Given the description of an element on the screen output the (x, y) to click on. 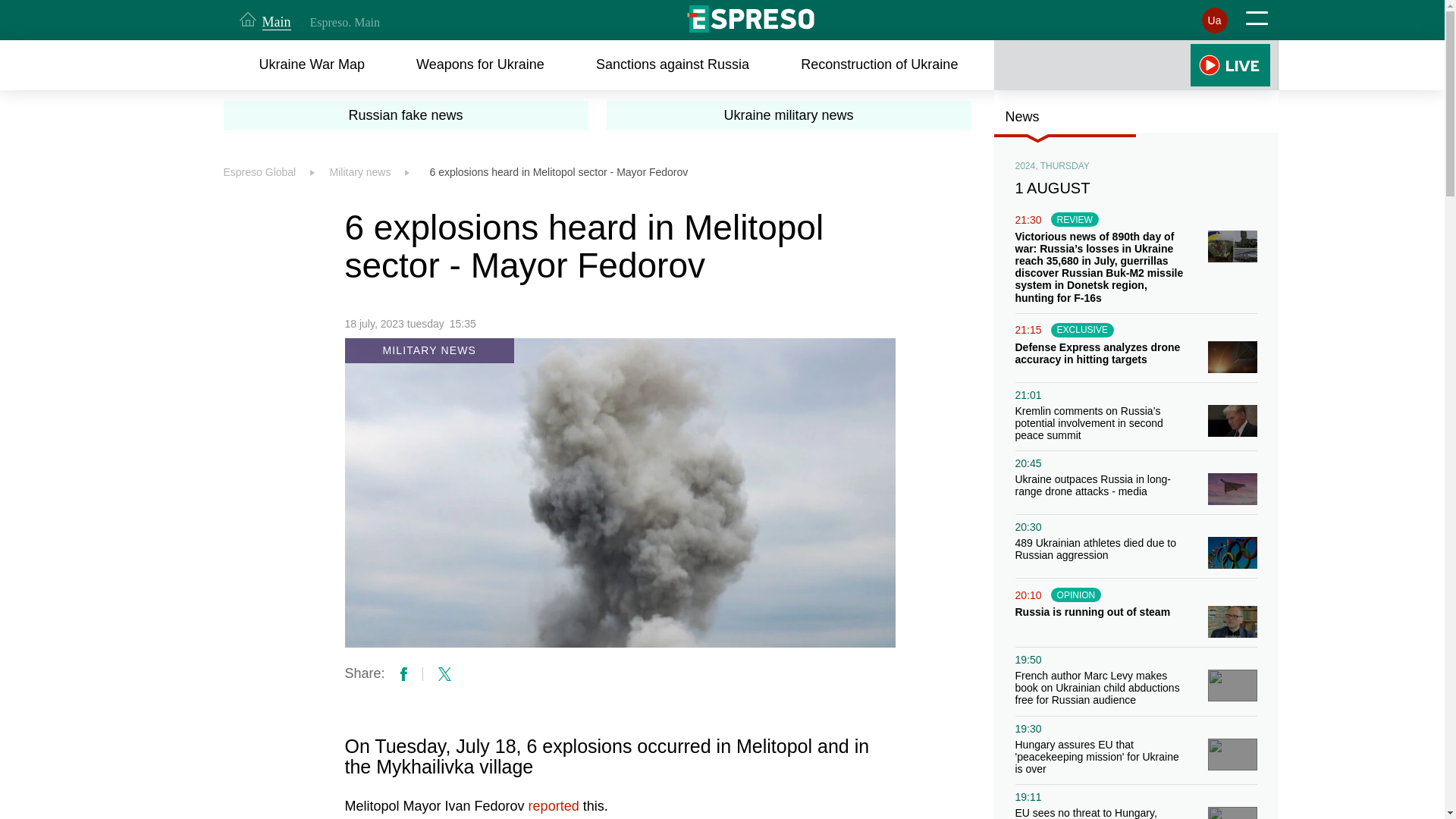
Espreso. Main (343, 22)
Main (265, 19)
Ua (1214, 20)
